Given the description of an element on the screen output the (x, y) to click on. 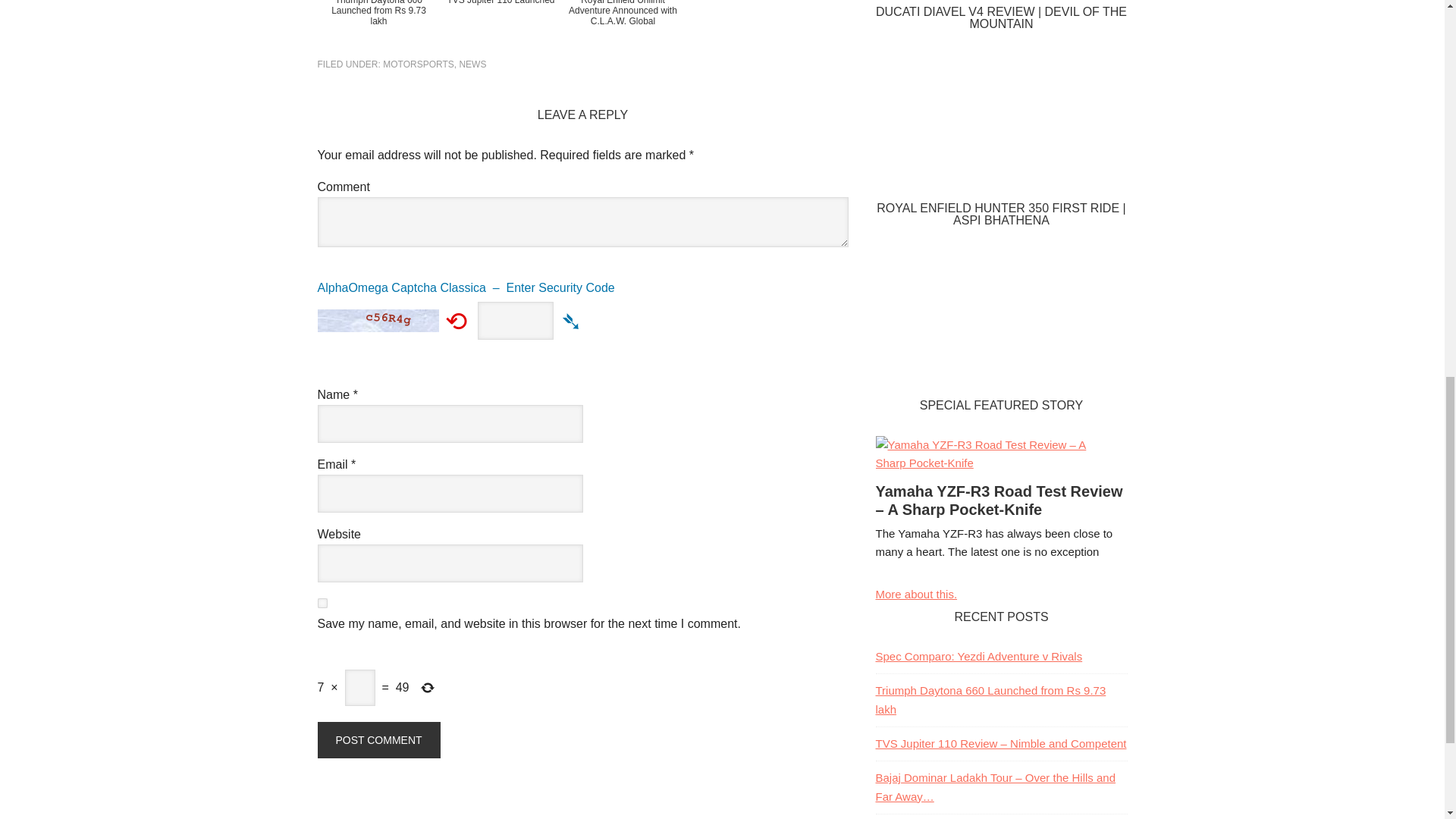
 Checkout the AlphaOmega Captcha Plugin at WordPress.org  (571, 319)
TVS Jupiter 110 Launched (500, 27)
Triumph Daytona 660 Launched from Rs 9.73 lakh (378, 27)
 Checkout the AlphaOmega Captcha Plugin at WordPress.org  (582, 292)
yes (321, 603)
NEWS (472, 63)
MOTORSPORTS (418, 63)
 Reload AlphaOmega Captcha  (456, 319)
Post Comment (378, 739)
